Given the description of an element on the screen output the (x, y) to click on. 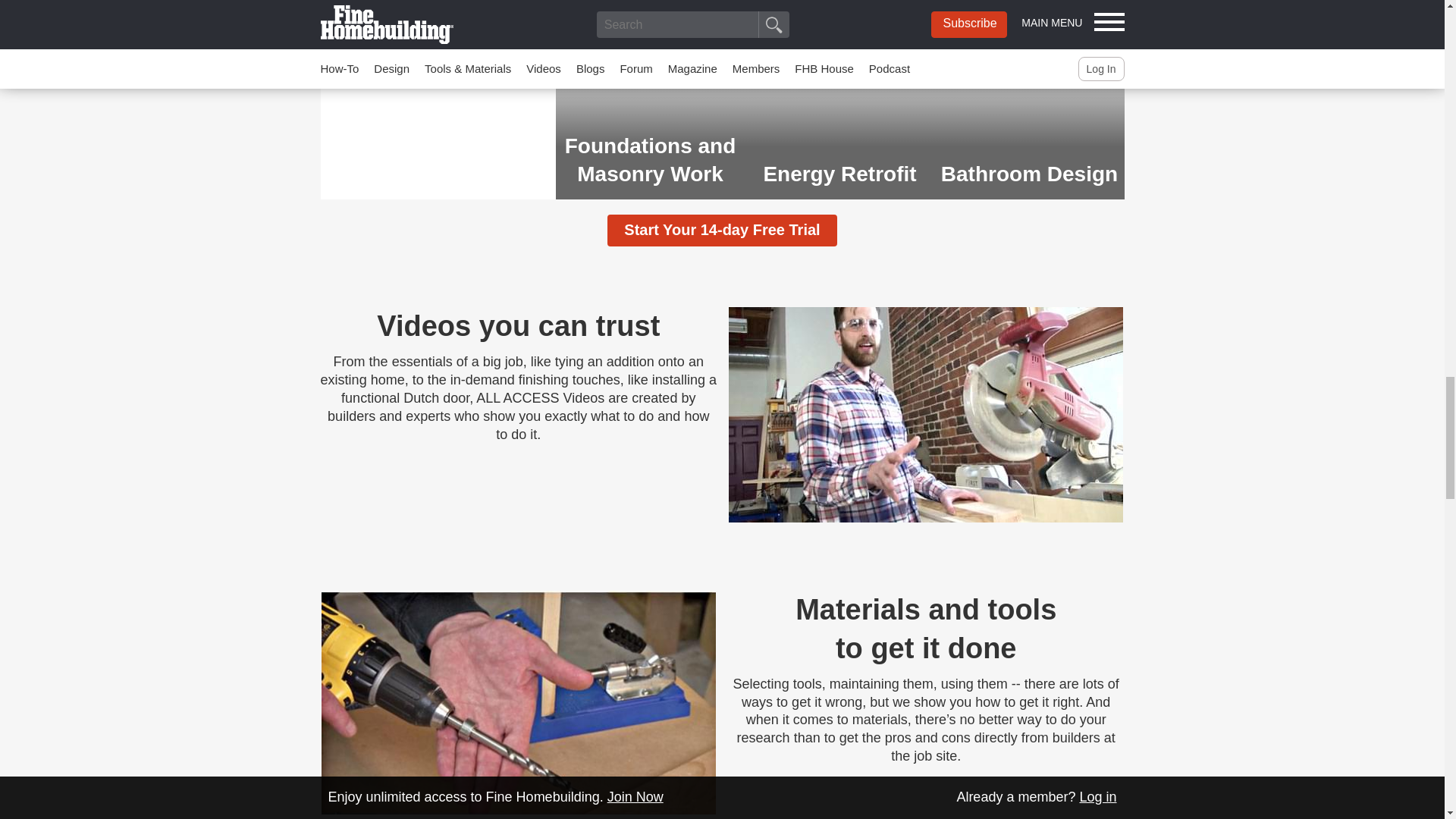
Foundations and Masonry Work (649, 99)
Energy Retrofit (839, 99)
